Given the description of an element on the screen output the (x, y) to click on. 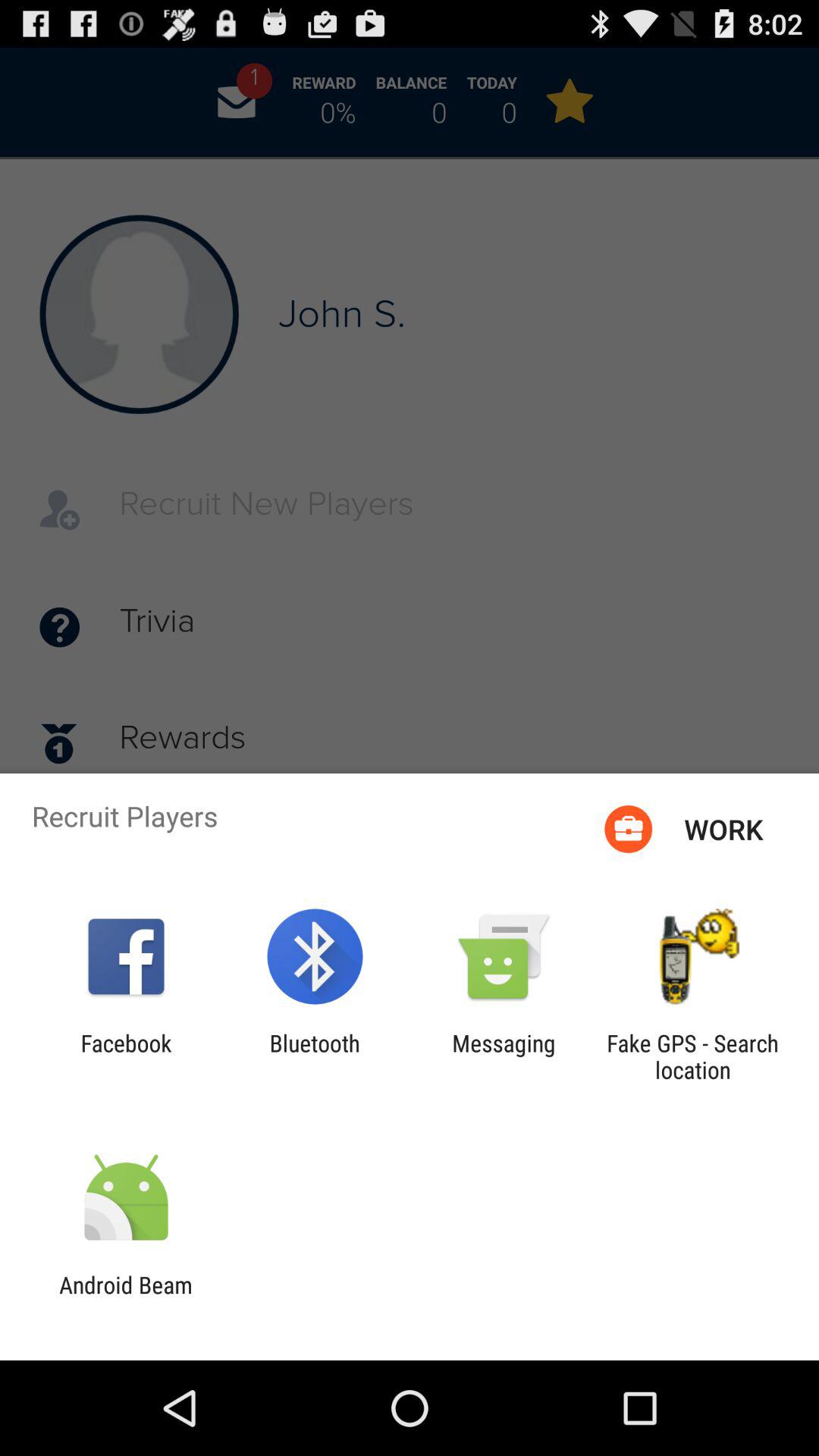
choose item next to bluetooth icon (503, 1056)
